Given the description of an element on the screen output the (x, y) to click on. 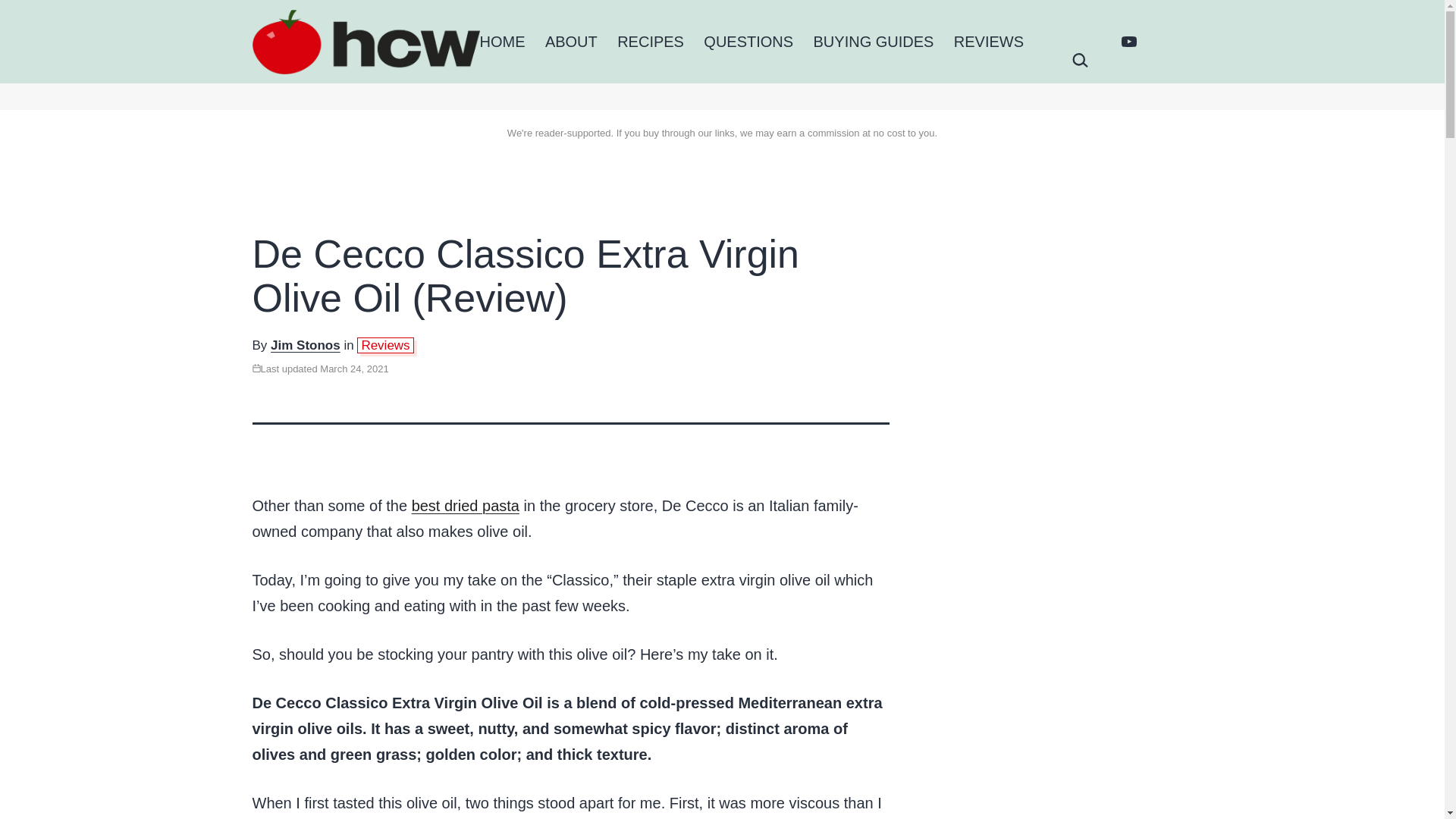
REVIEWS (988, 40)
ABOUT (571, 40)
Reviews (385, 345)
QUESTIONS (748, 40)
best dried pasta (465, 505)
HOME (501, 40)
RECIPES (650, 40)
BUYING GUIDES (873, 40)
Jim Stonos (305, 345)
YOUTUBE (1128, 41)
